Given the description of an element on the screen output the (x, y) to click on. 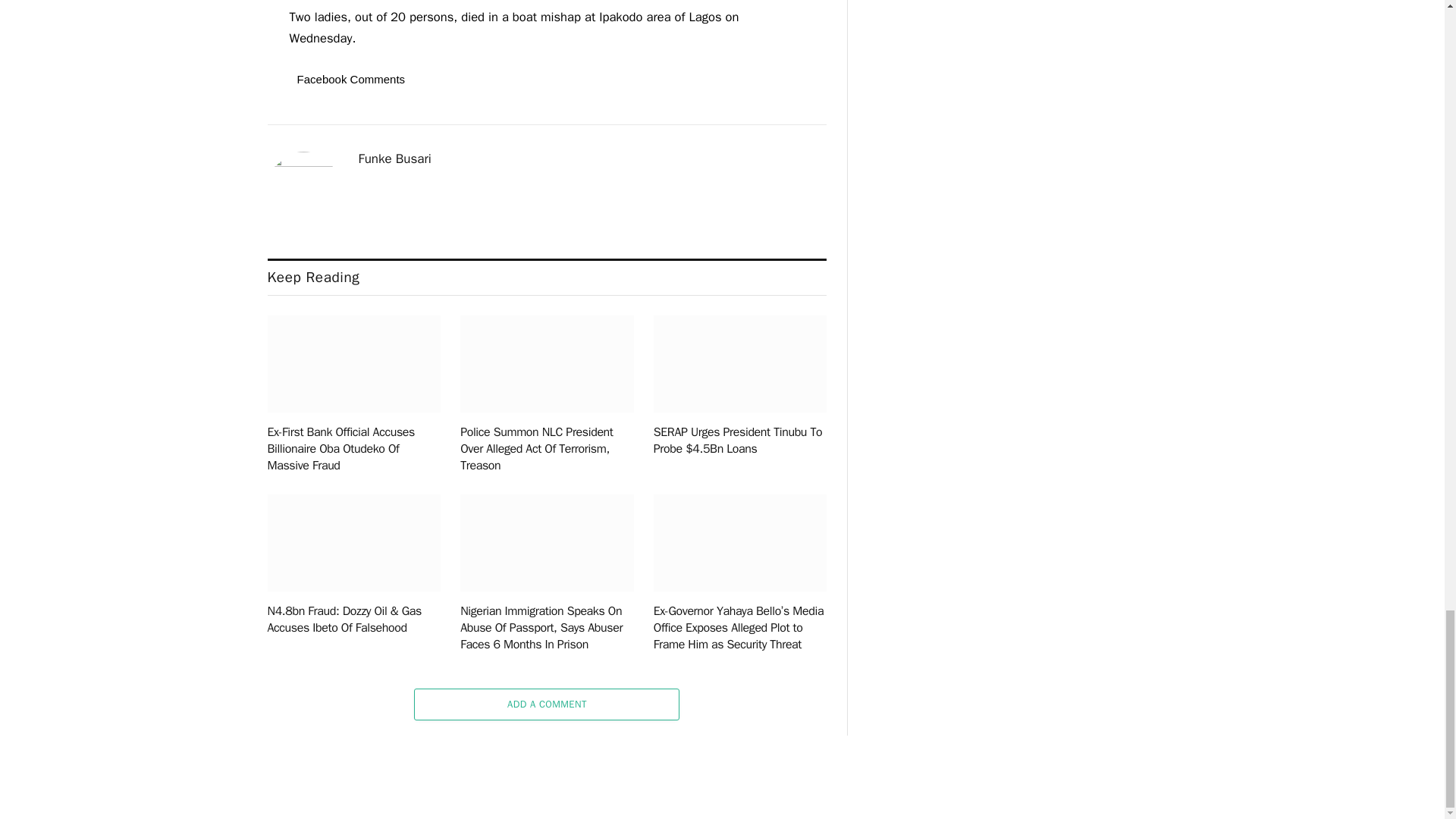
Posts by Funke Busari (394, 159)
